Given the description of an element on the screen output the (x, y) to click on. 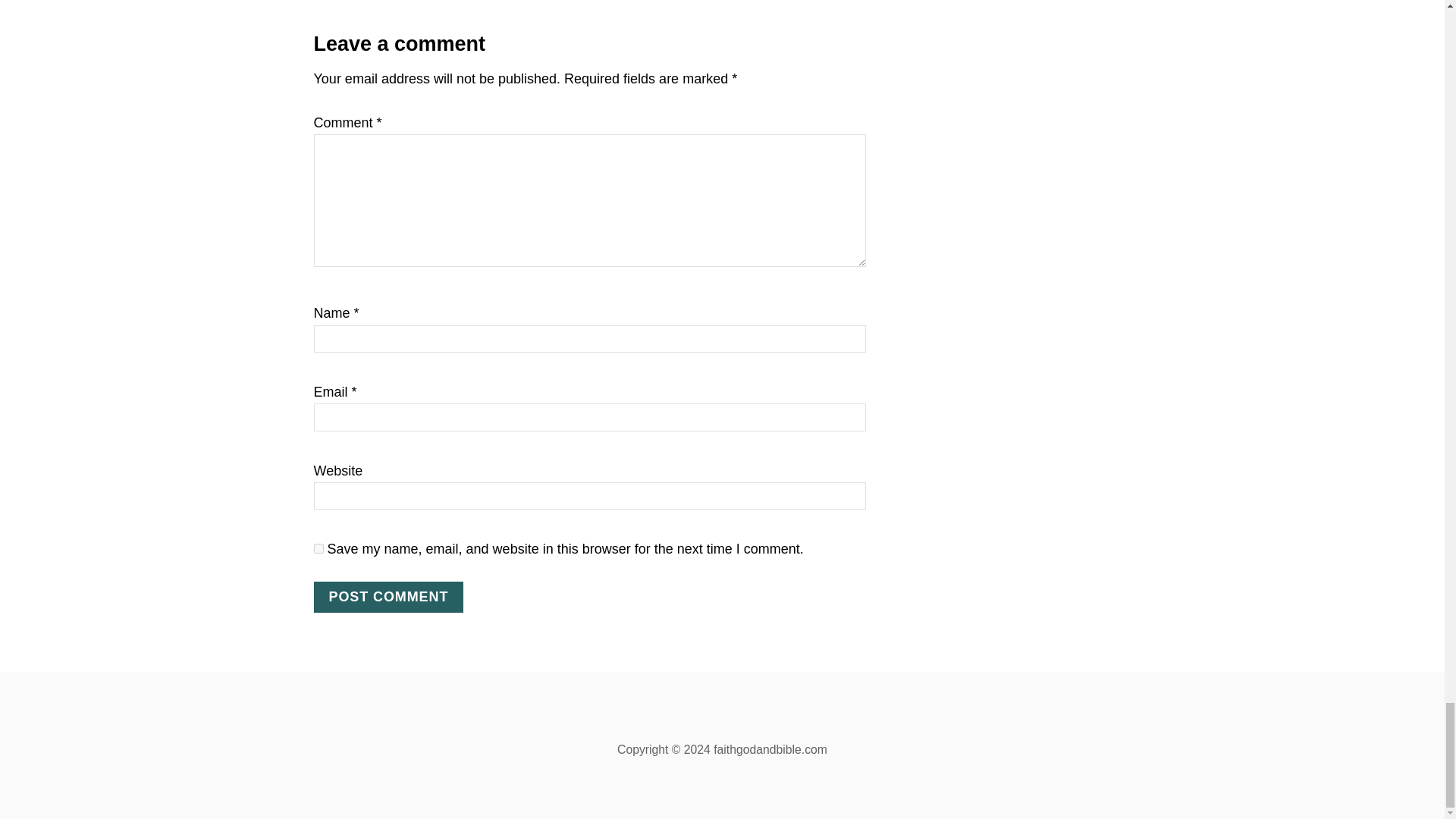
yes (318, 548)
Post Comment (389, 596)
Post Comment (389, 596)
